Given the description of an element on the screen output the (x, y) to click on. 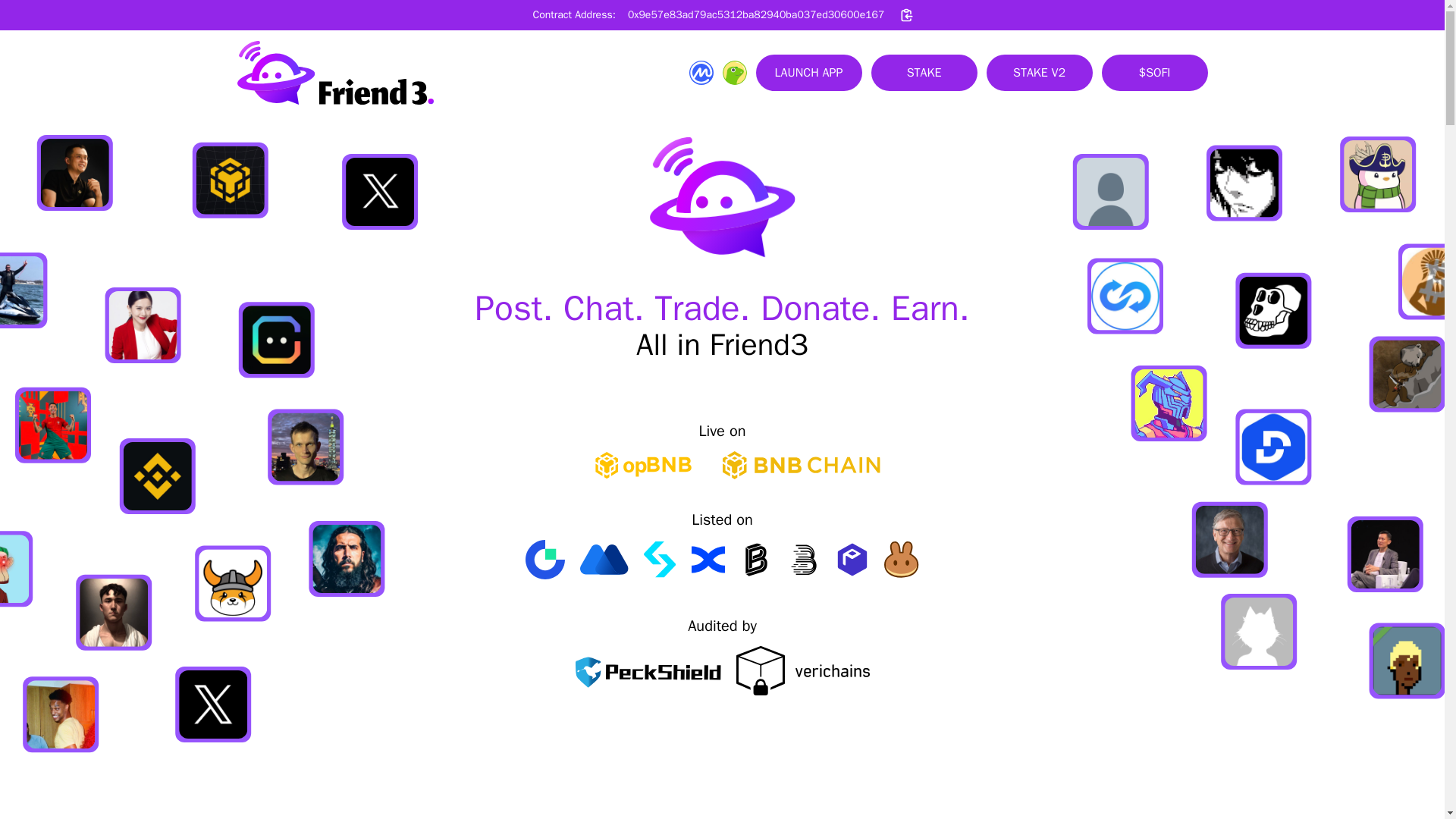
STAKE (923, 72)
STAKE V2 (1038, 72)
LAUNCH APP (808, 72)
